Given the description of an element on the screen output the (x, y) to click on. 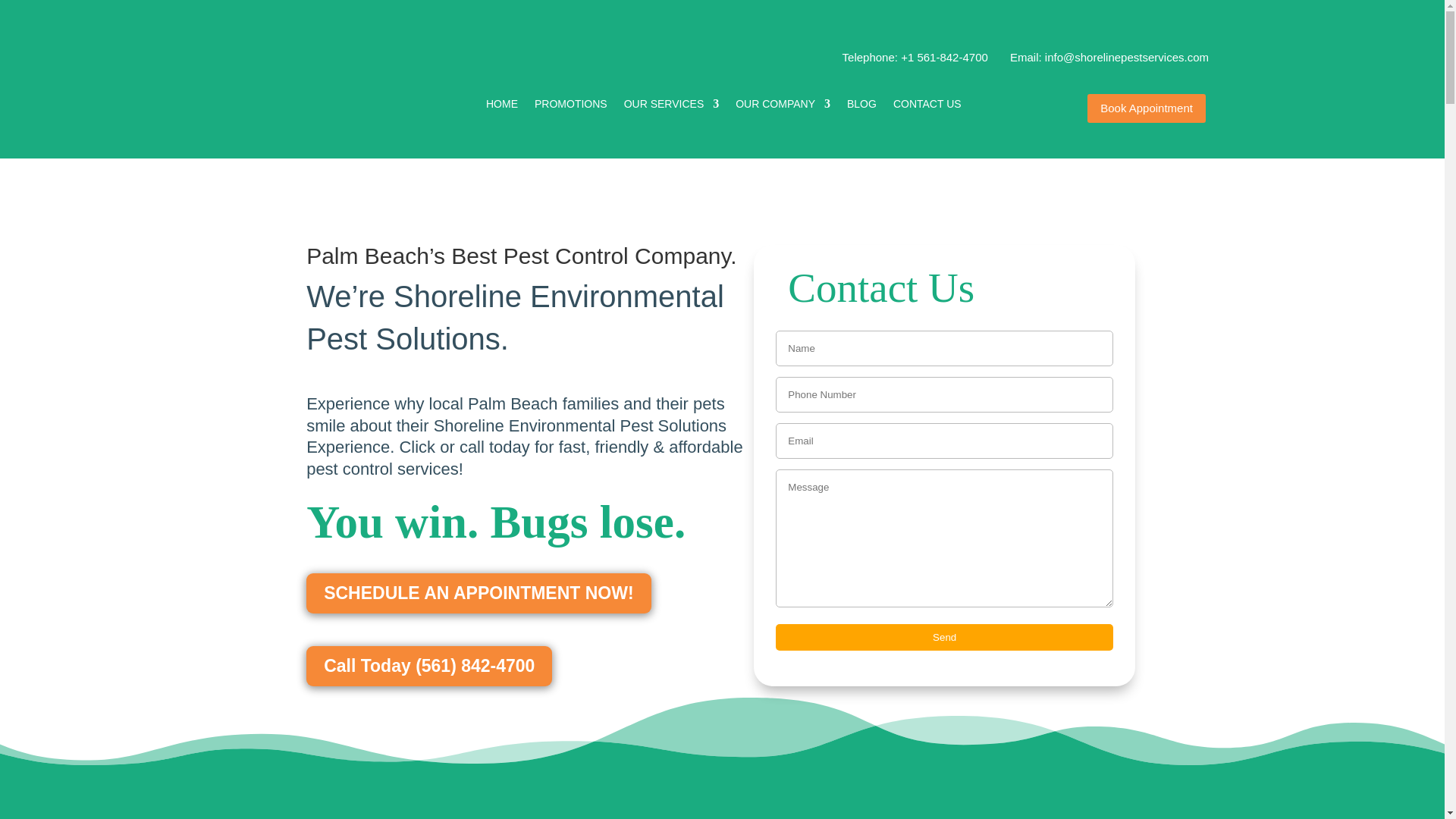
SCHEDULE AN APPOINTMENT NOW! (477, 593)
OUR SERVICES (671, 104)
Send (944, 637)
OUR COMPANY (782, 104)
Book Appointment (1146, 108)
Send (944, 637)
